Given the description of an element on the screen output the (x, y) to click on. 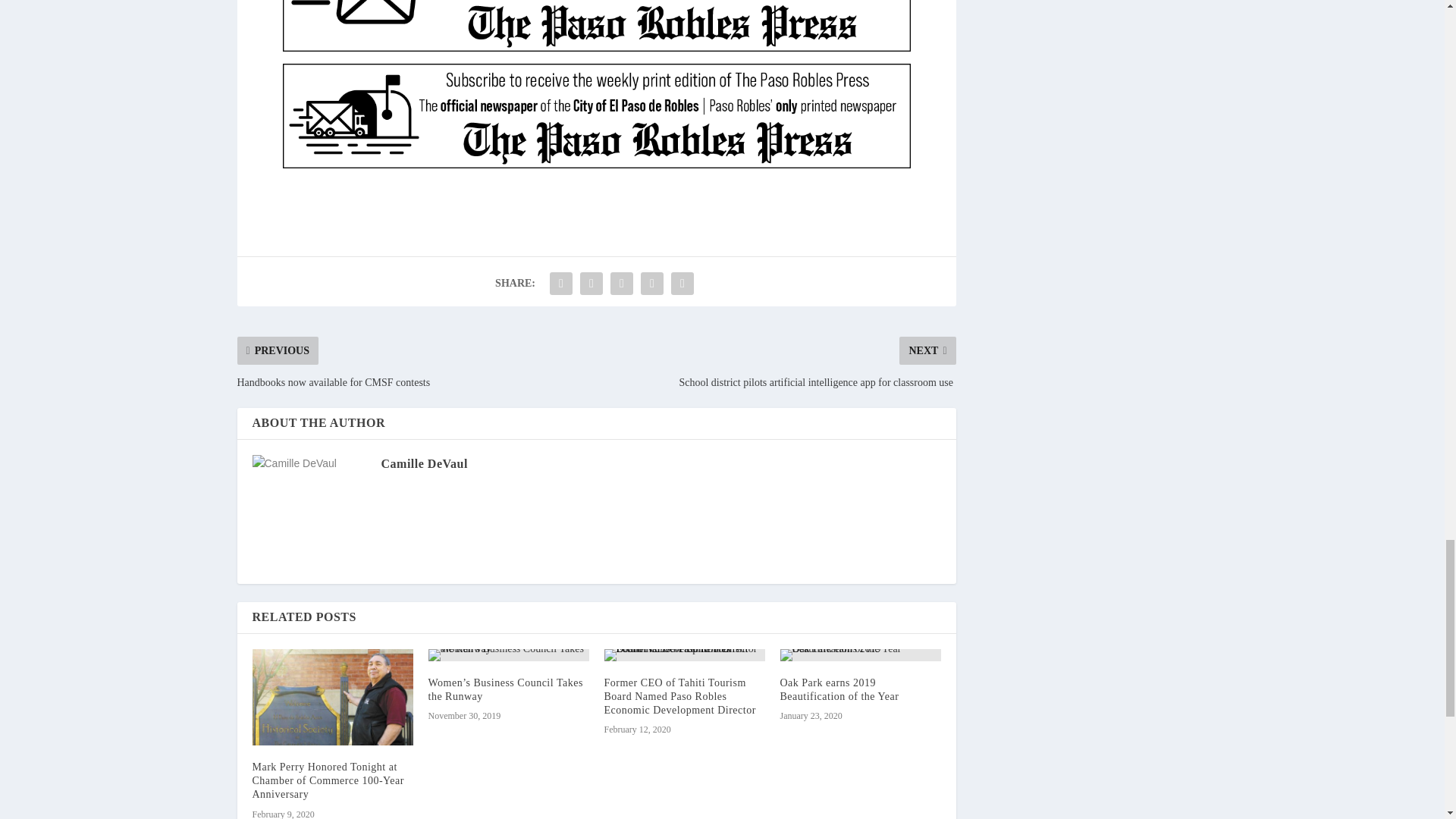
Camille DeVaul (423, 463)
View all posts by Camille DeVaul (423, 463)
